Given the description of an element on the screen output the (x, y) to click on. 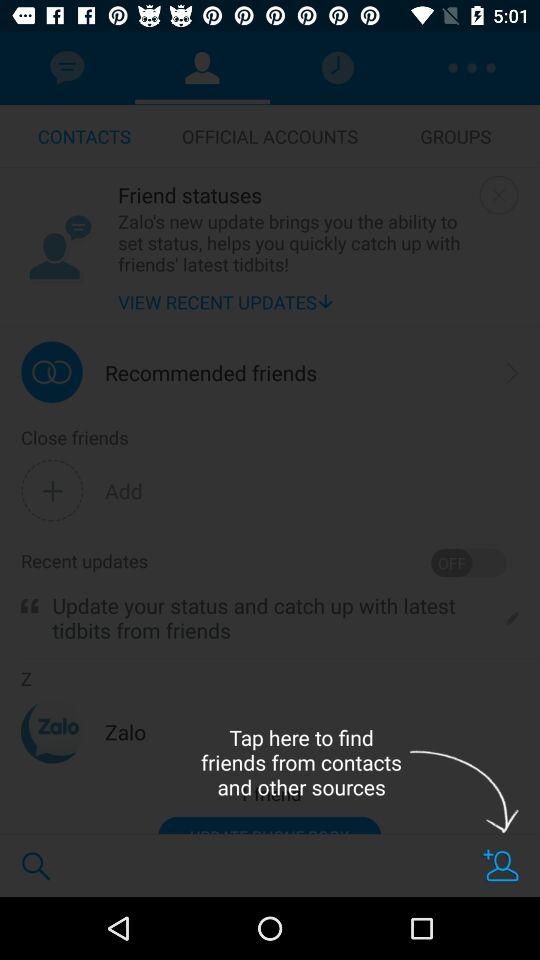
select item below friend statuses item (294, 242)
